Given the description of an element on the screen output the (x, y) to click on. 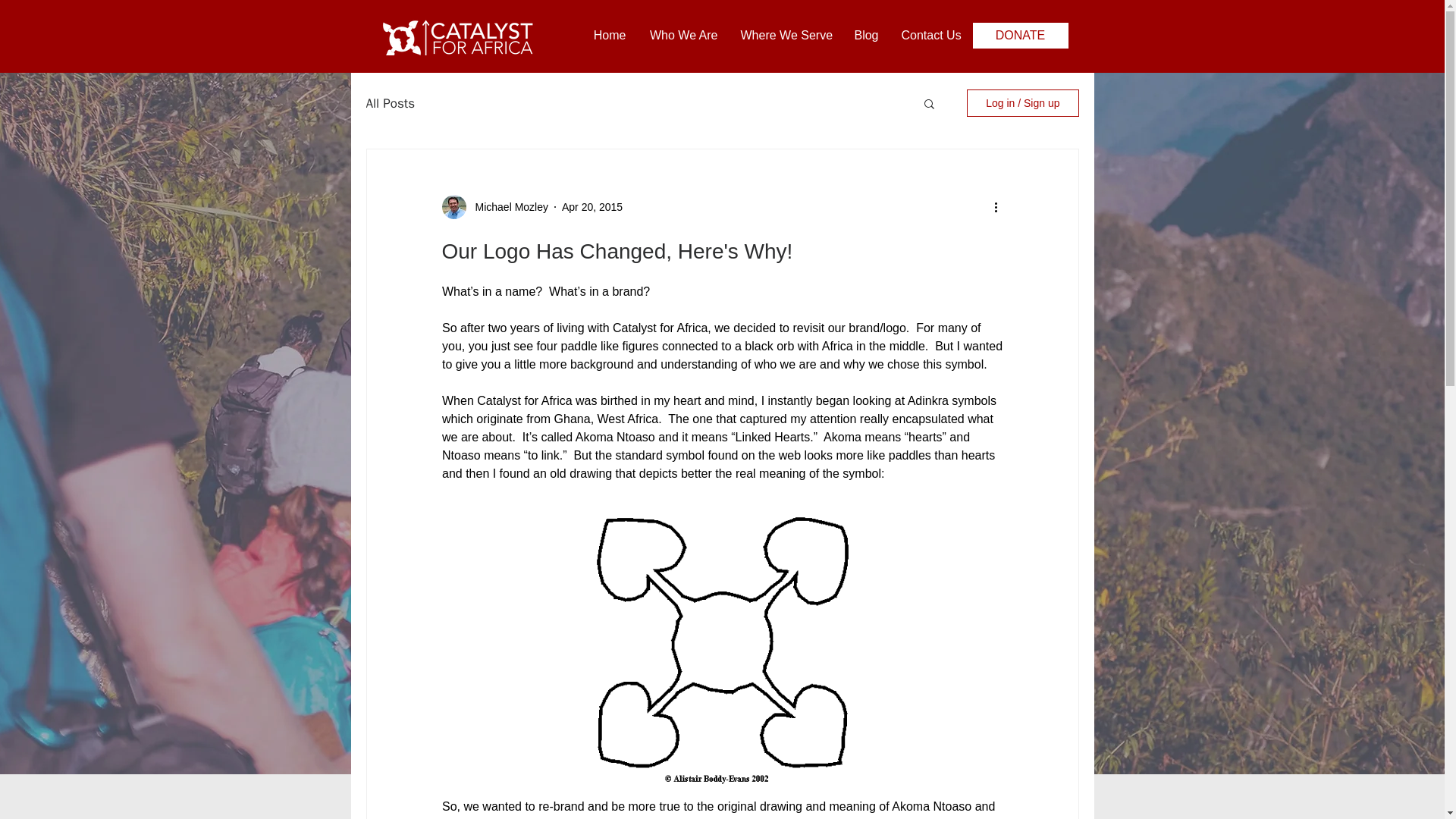
All Posts (389, 102)
Contact Us (930, 35)
Michael Mozley (506, 206)
Who We Are (683, 35)
Apr 20, 2015 (592, 205)
Where We Serve (785, 35)
Blog (865, 35)
Home (608, 35)
Akoma Ntoaso (614, 436)
DONATE (1019, 35)
